Given the description of an element on the screen output the (x, y) to click on. 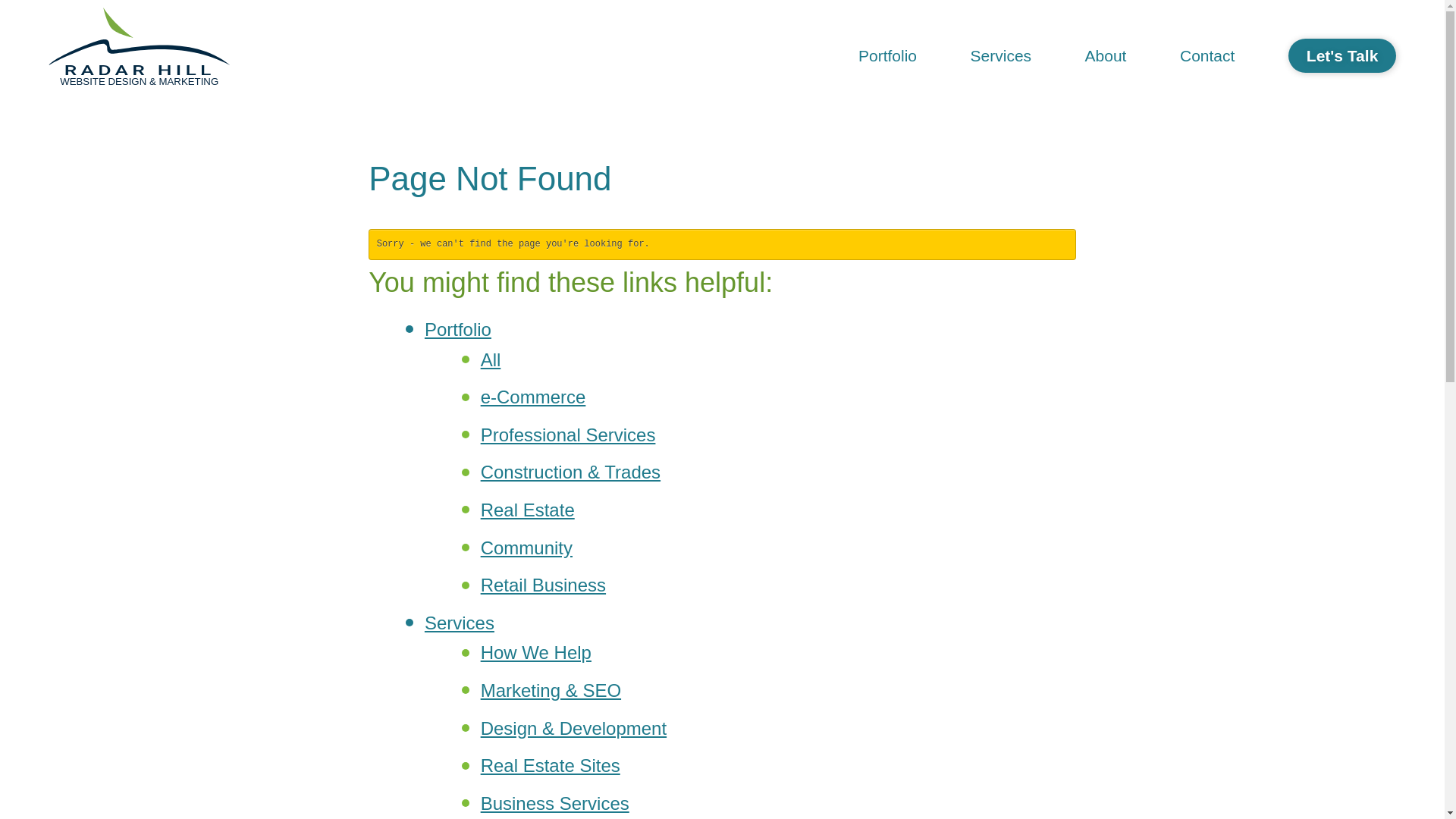
Contact Element type: text (1207, 55)
Let's Talk Element type: text (1342, 55)
Real Estate Element type: text (527, 509)
Community Element type: text (526, 547)
Portfolio Element type: text (887, 55)
Services Element type: text (459, 622)
Portfolio Element type: text (457, 329)
Services Element type: text (1000, 55)
Business Services Element type: text (554, 803)
Retail Business Element type: text (542, 584)
Real Estate Sites Element type: text (550, 765)
About Element type: text (1104, 55)
Construction & Trades Element type: text (570, 471)
All Element type: text (490, 359)
Design & Development Element type: text (573, 728)
e-Commerce Element type: text (533, 396)
Marketing & SEO Element type: text (550, 690)
Professional Services Element type: text (567, 434)
How We Help Element type: text (535, 652)
